Given the description of an element on the screen output the (x, y) to click on. 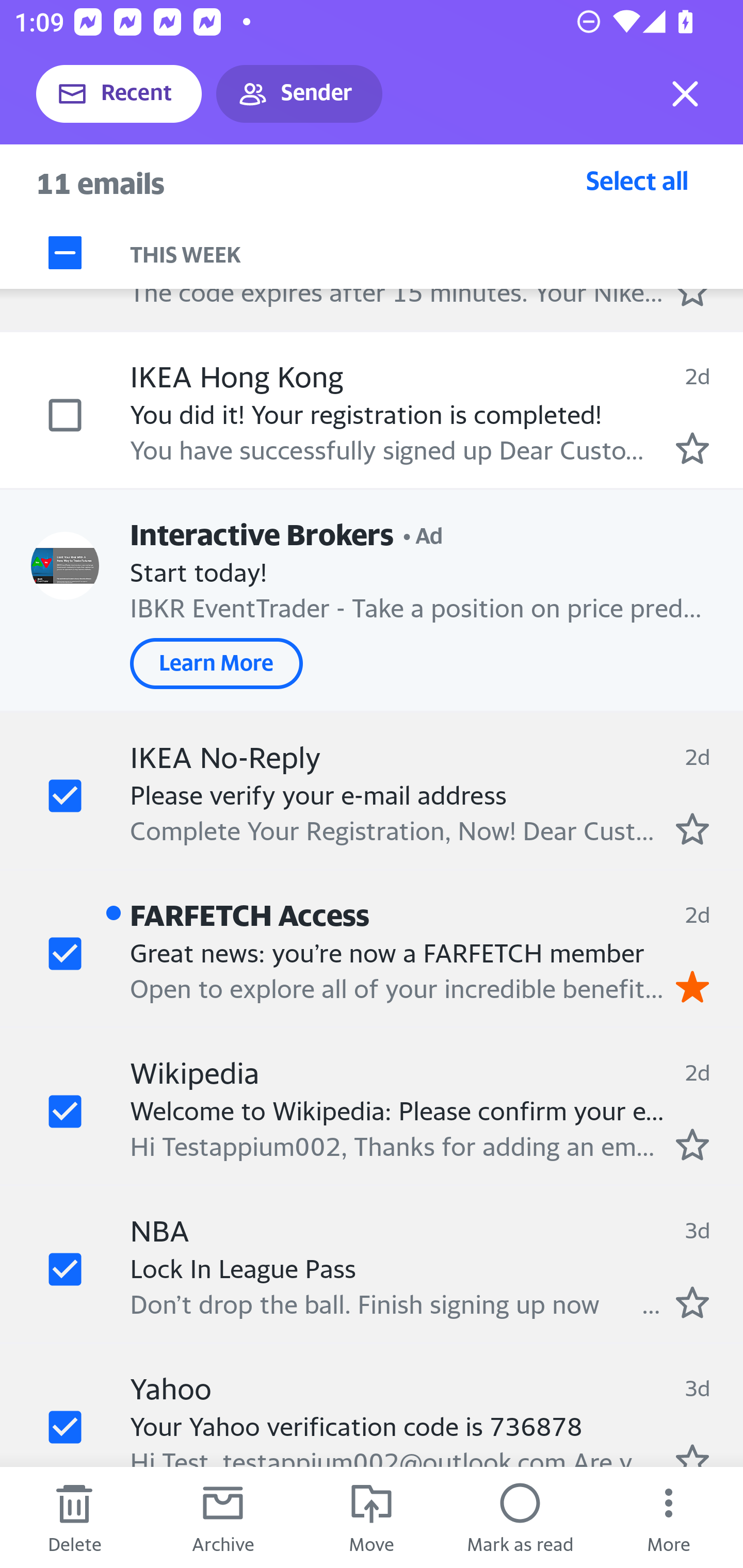
Sender (299, 93)
Exit selection mode (684, 93)
Select all (637, 180)
Mark as starred. (692, 447)
Mark as starred. (692, 828)
Remove star. (692, 987)
Mark as starred. (692, 1143)
Mark as starred. (692, 1302)
Delete (74, 1517)
Archive (222, 1517)
Move (371, 1517)
Mark as read (519, 1517)
More (668, 1517)
